Given the description of an element on the screen output the (x, y) to click on. 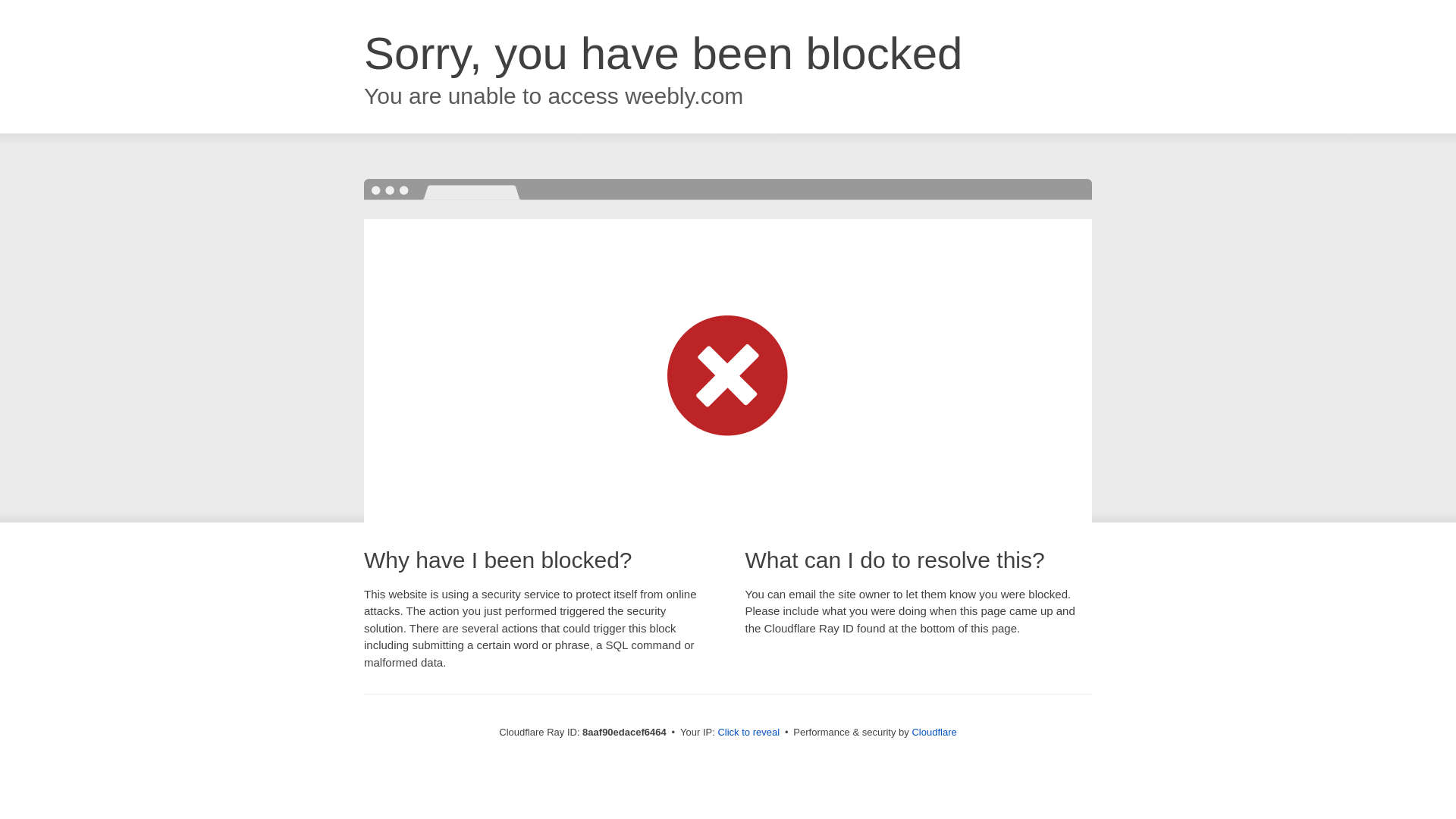
Click to reveal (747, 732)
Cloudflare (933, 731)
